Given the description of an element on the screen output the (x, y) to click on. 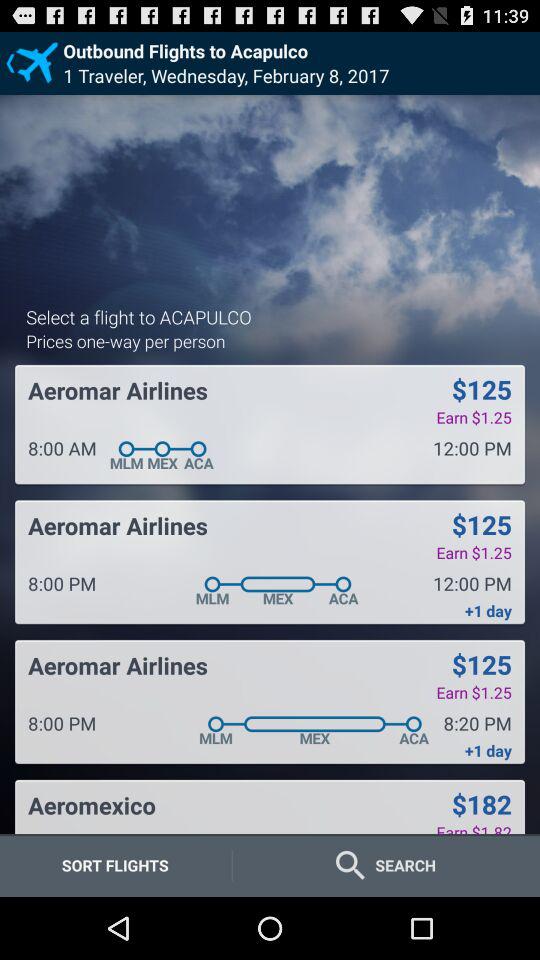
select the icon above earn $1.82 (481, 803)
